Given the description of an element on the screen output the (x, y) to click on. 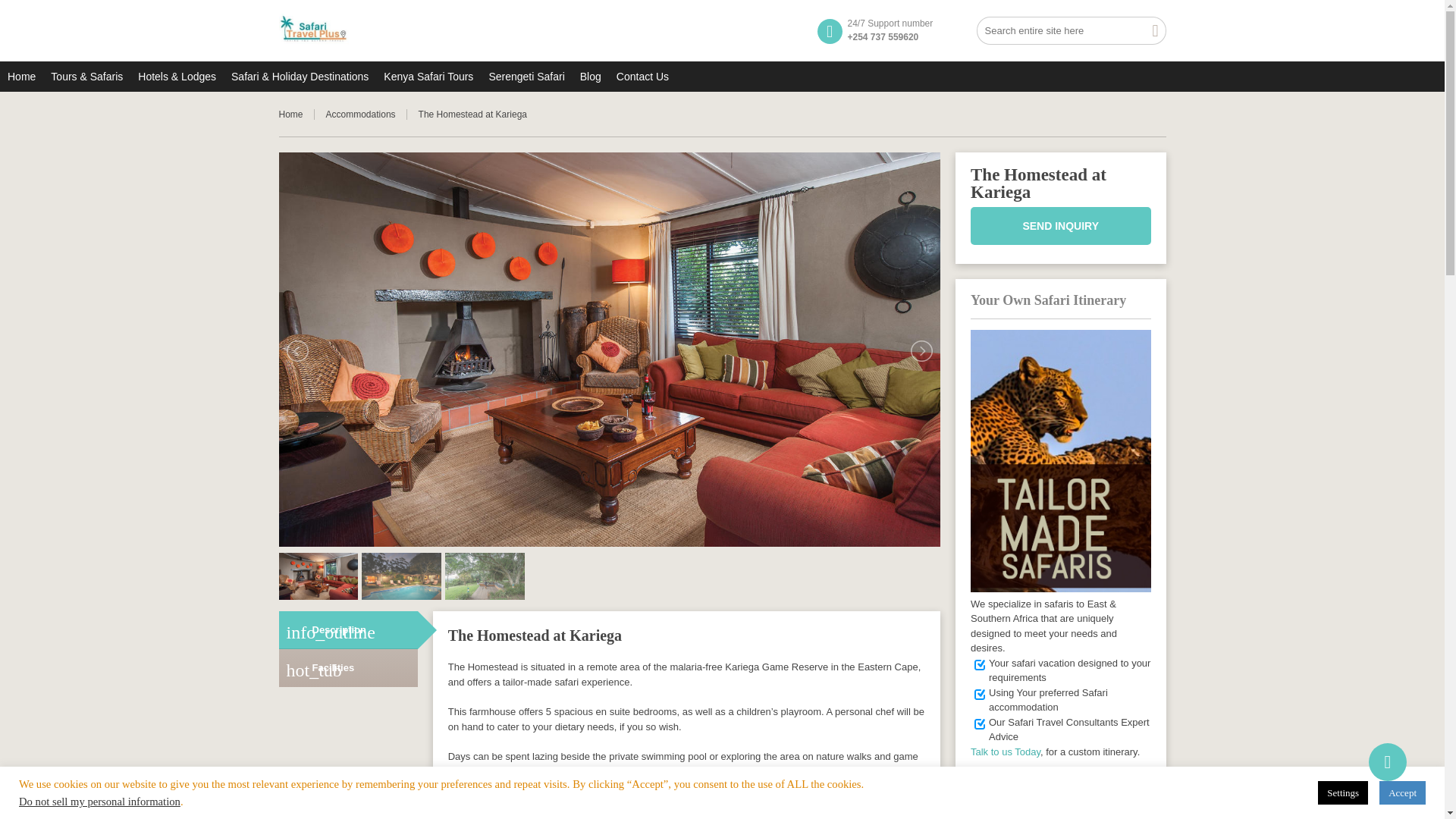
Home (296, 113)
Serengeti Safari (526, 75)
Kenya Safari Tours (427, 75)
Description (348, 629)
Home (296, 113)
Contact Us (642, 75)
Back up (1387, 761)
Facilities (348, 668)
Blog (590, 75)
SEND INQUIRY (1061, 225)
Talk to us Today (1006, 751)
Accommodations (366, 113)
Send inquiry (1061, 225)
Accommodations (366, 113)
Home (21, 75)
